Given the description of an element on the screen output the (x, y) to click on. 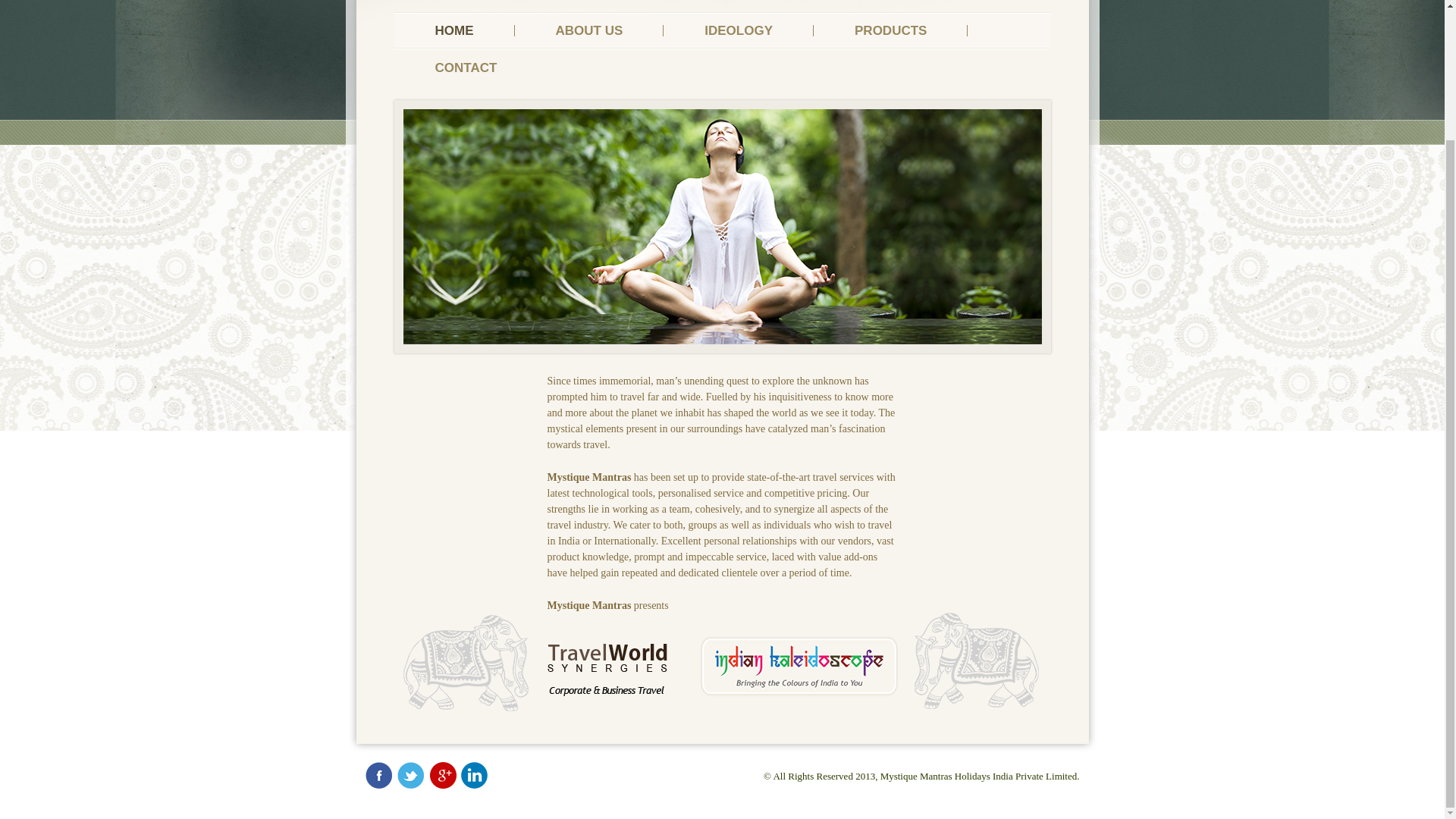
PRODUCTS (890, 30)
HOME (454, 30)
CONTACT (466, 67)
IDEOLOGY (738, 30)
ABOUT US (588, 30)
